Given the description of an element on the screen output the (x, y) to click on. 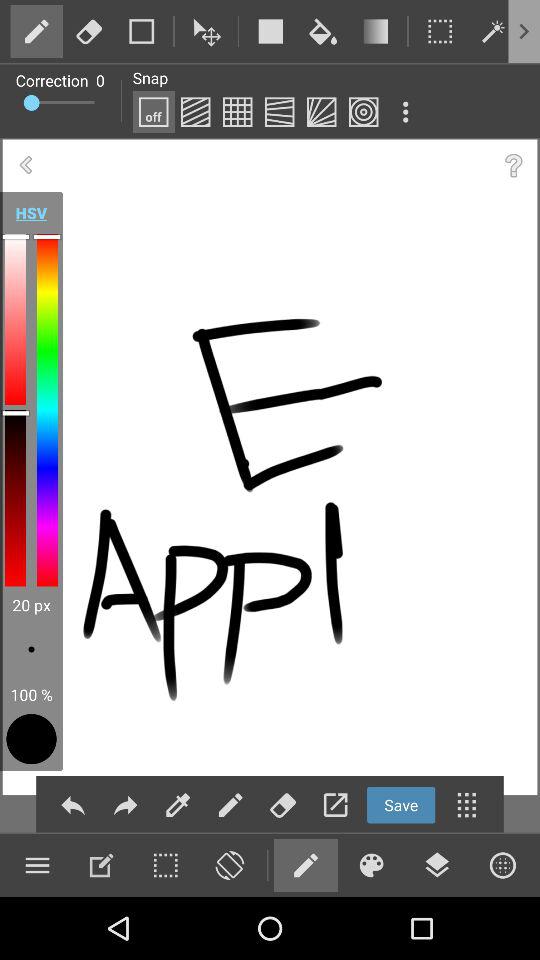
choose color (141, 31)
